Given the description of an element on the screen output the (x, y) to click on. 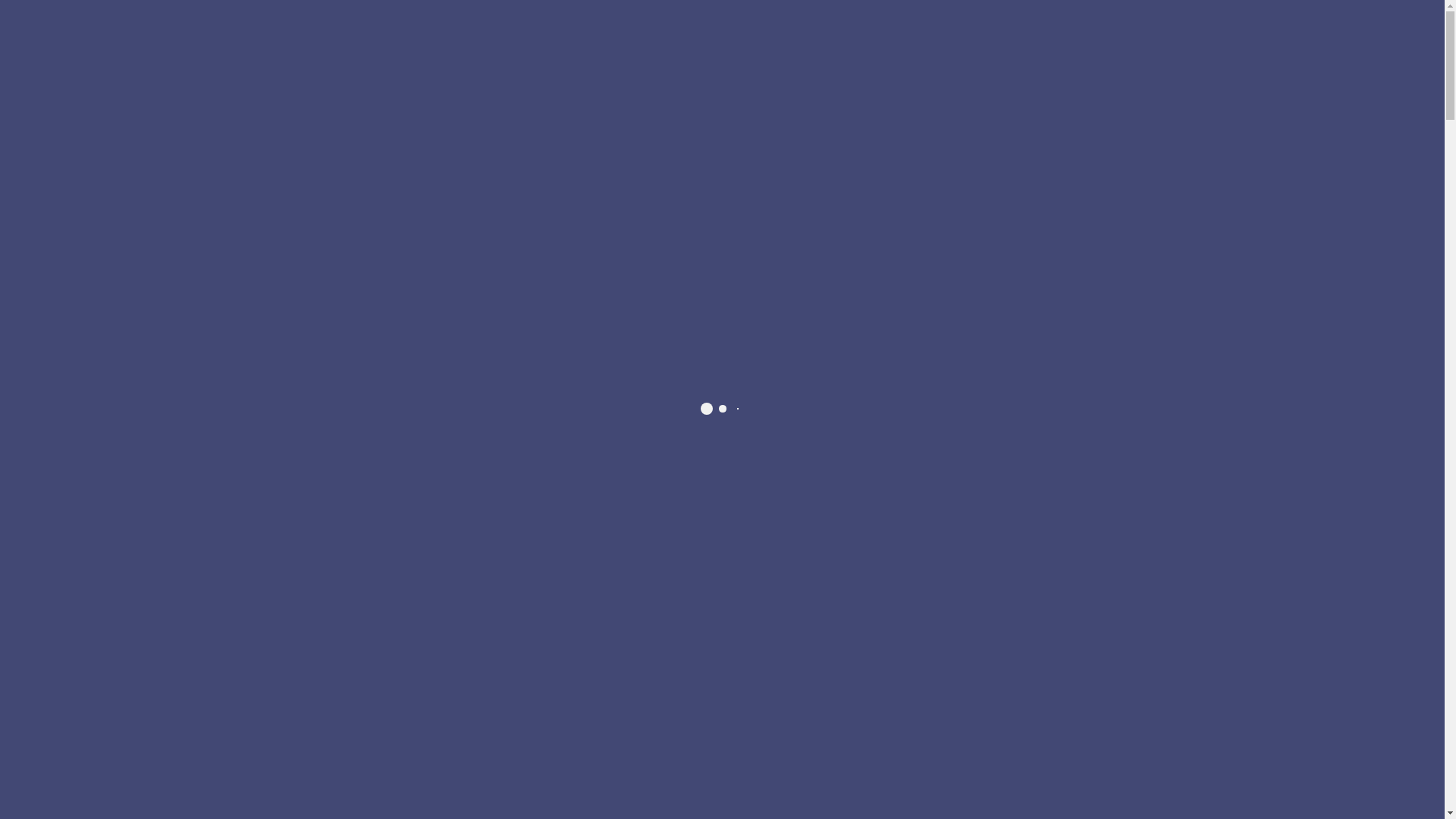
TEAM Element type: text (1175, 41)
REGISTER Element type: text (1233, 41)
PUBLICATIONS Element type: text (1102, 41)
MEMBERS Element type: text (948, 41)
DISCOVER Element type: text (719, 518)
EVENTS Element type: text (1019, 41)
INTRO
(current) Element type: text (886, 41)
